Given the description of an element on the screen output the (x, y) to click on. 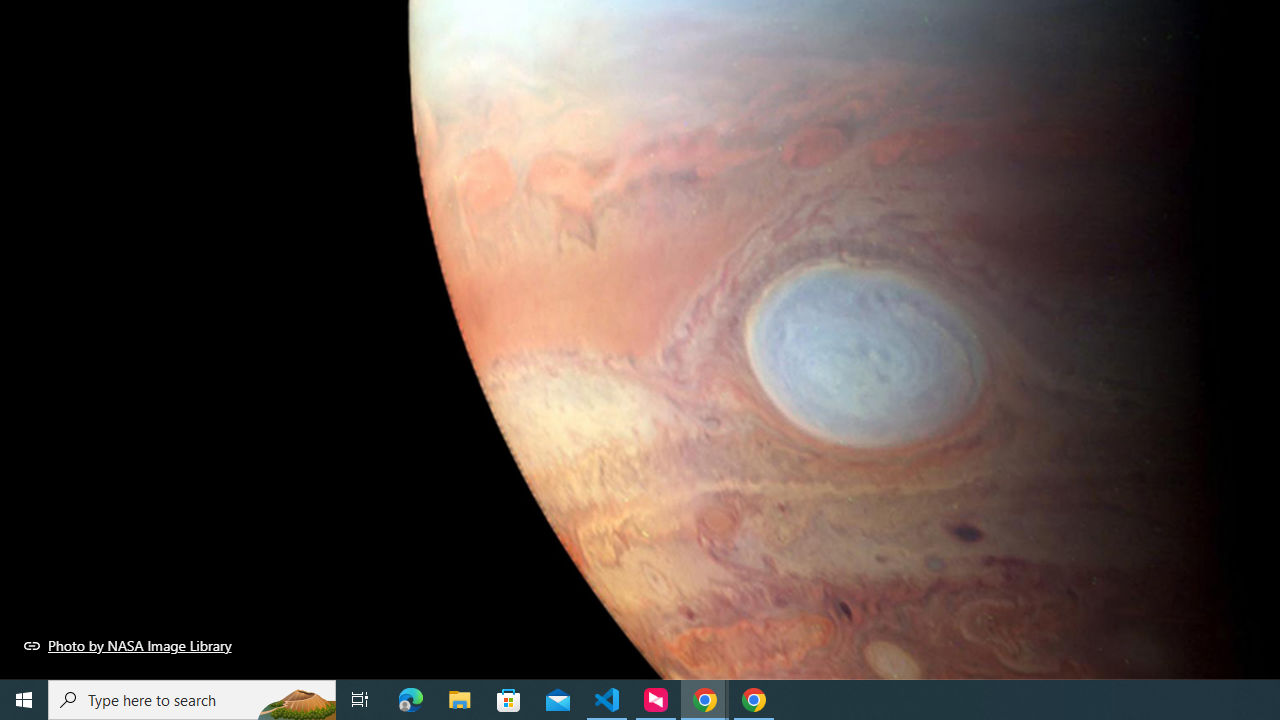
Photo by NASA Image Library (127, 645)
